Given the description of an element on the screen output the (x, y) to click on. 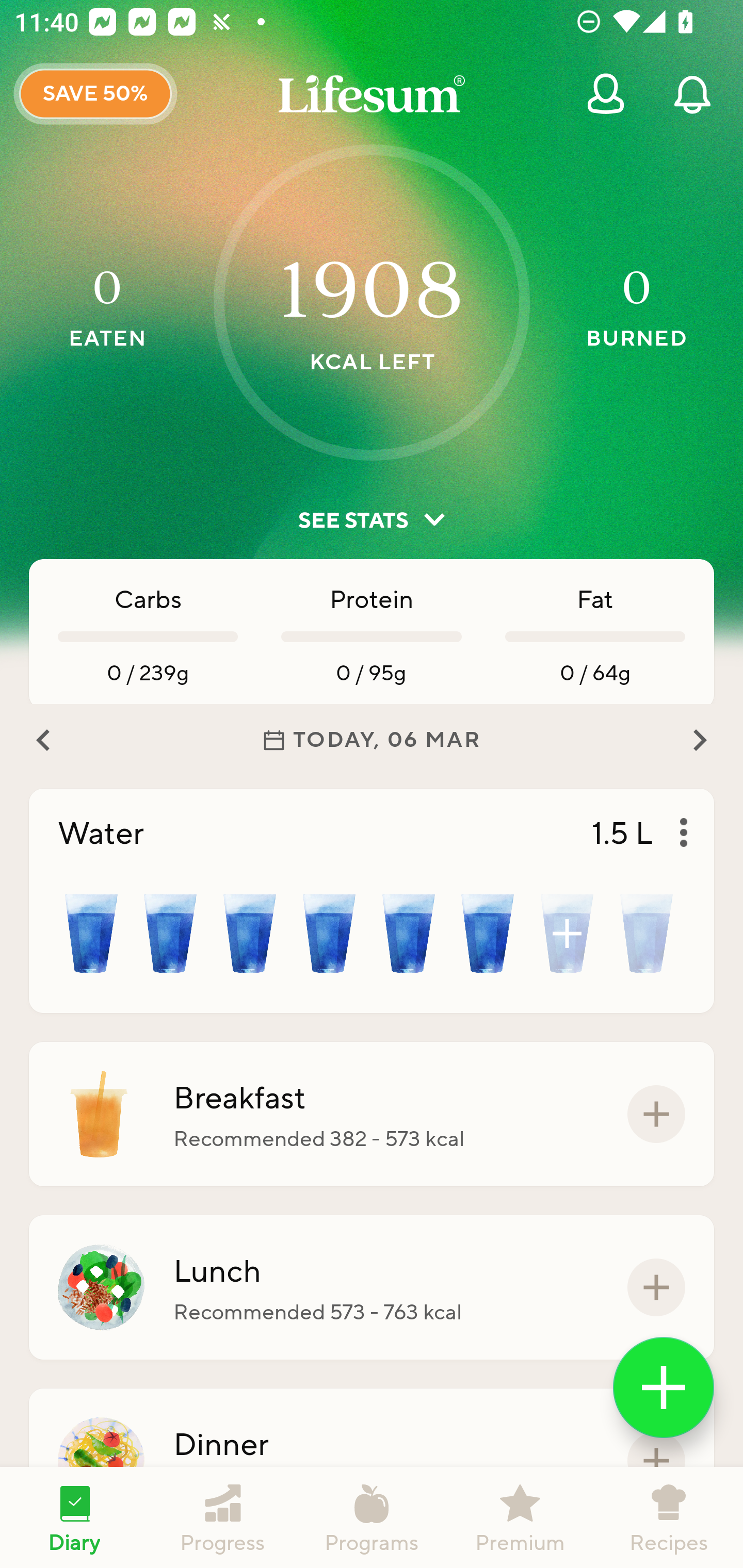
SEE STATS (371, 519)
TODAY, 06 MAR (371, 739)
Breakfast Recommended 382 - 573 kcal (371, 1113)
Lunch Recommended 573 - 763 kcal (371, 1287)
Dinner Recommended 573 - 763 kcal (371, 1461)
Progress (222, 1517)
Programs (371, 1517)
Premium (519, 1517)
Recipes (668, 1517)
